Given the description of an element on the screen output the (x, y) to click on. 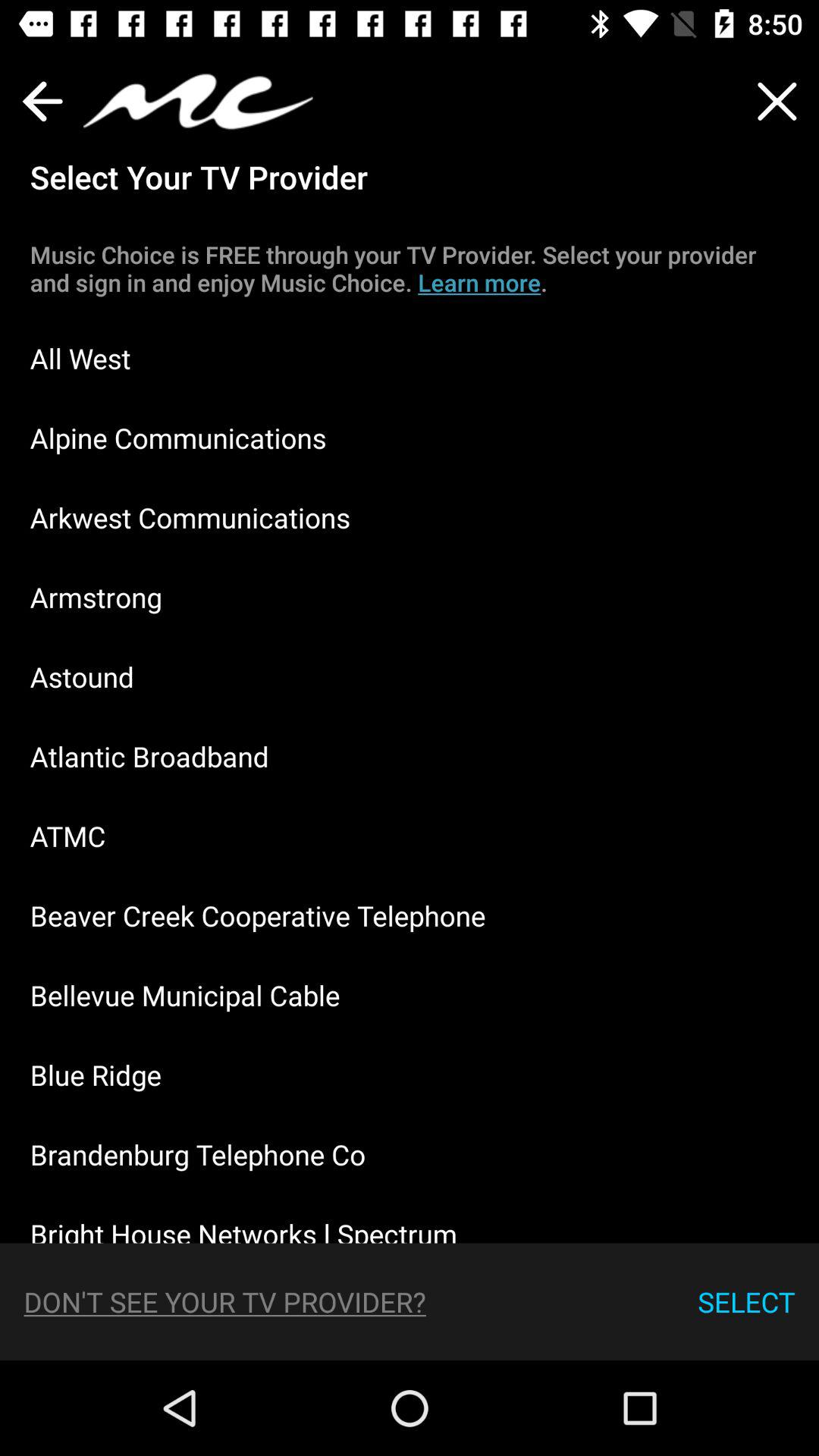
click item below select your tv (409, 268)
